Given the description of an element on the screen output the (x, y) to click on. 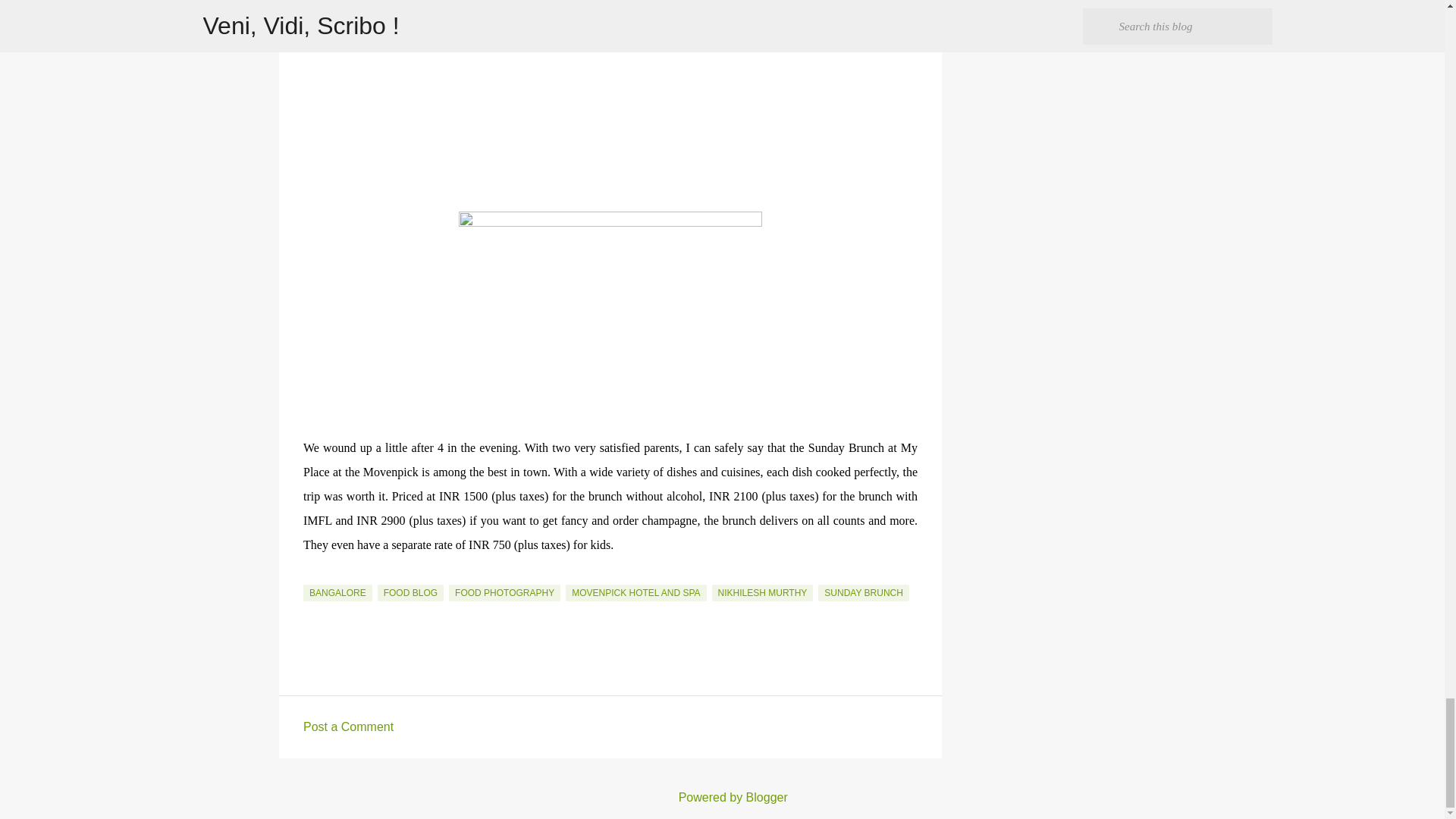
FOOD BLOG (410, 592)
FOOD PHOTOGRAPHY (504, 592)
NIKHILESH MURTHY (762, 592)
Post a Comment (347, 726)
SUNDAY BRUNCH (863, 592)
MOVENPICK HOTEL AND SPA (636, 592)
BANGALORE (337, 592)
